Given the description of an element on the screen output the (x, y) to click on. 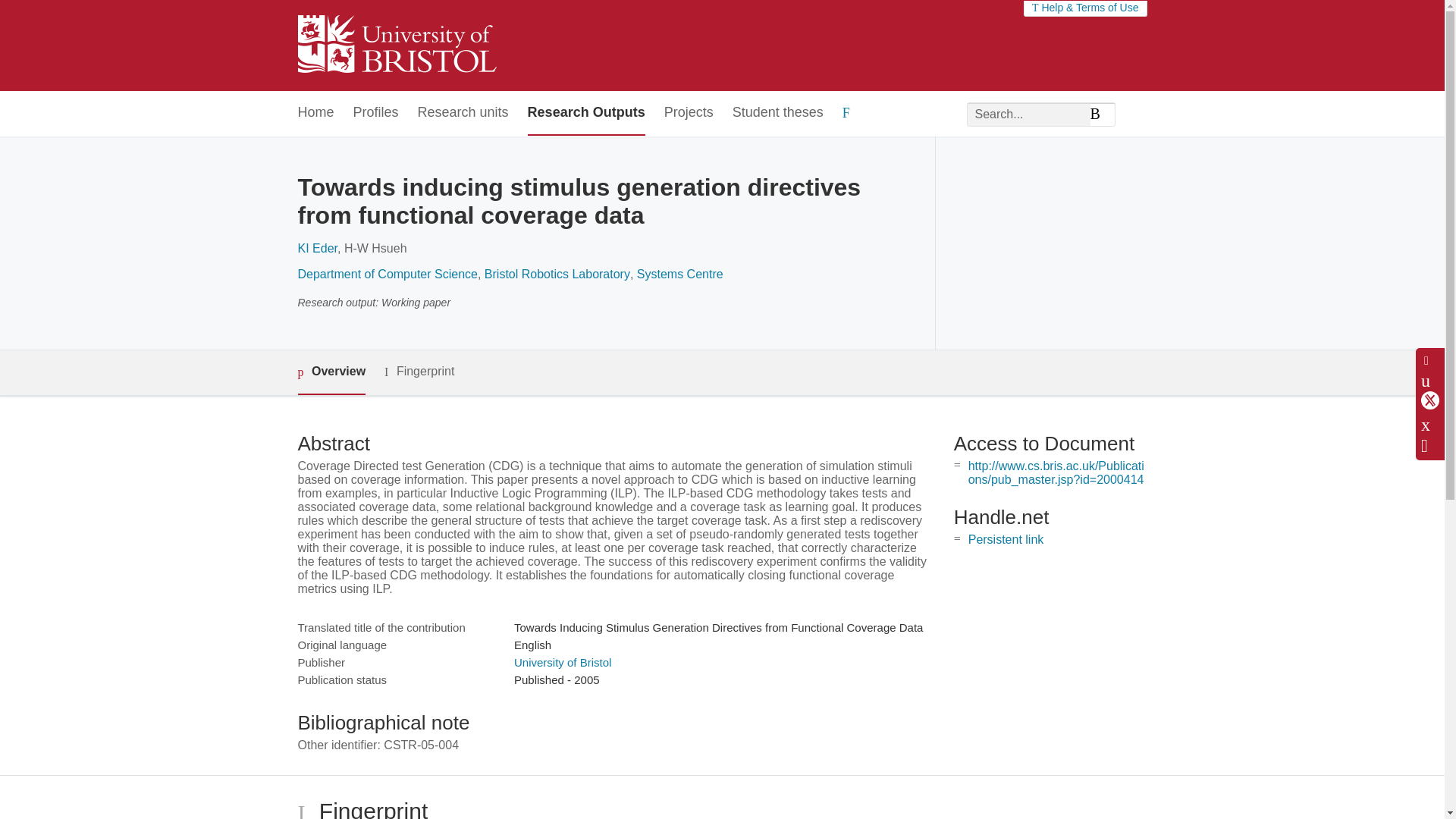
Overview (331, 372)
KI Eder (316, 247)
Research units (462, 112)
Bristol Robotics Laboratory (557, 273)
Systems Centre (680, 273)
Research Outputs (586, 112)
Fingerprint (419, 371)
Persistent link (1005, 539)
Department of Computer Science (387, 273)
Projects (688, 112)
Student theses (778, 112)
Profiles (375, 112)
University of Bristol Home (396, 45)
University of Bristol (562, 662)
